Given the description of an element on the screen output the (x, y) to click on. 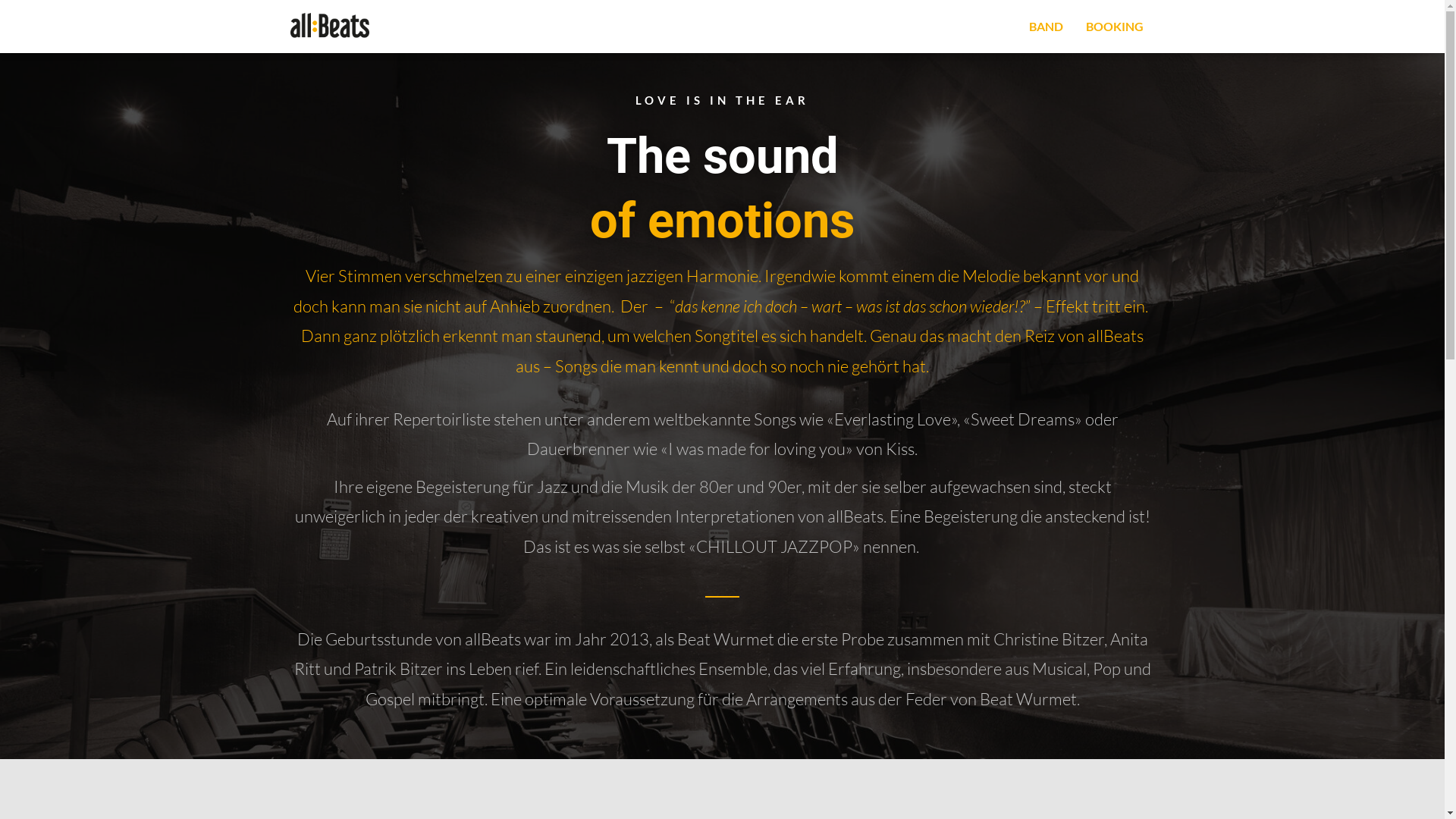
allBeats Element type: hover (329, 26)
BOOKING Element type: text (1113, 26)
BAND Element type: text (1045, 26)
